Given the description of an element on the screen output the (x, y) to click on. 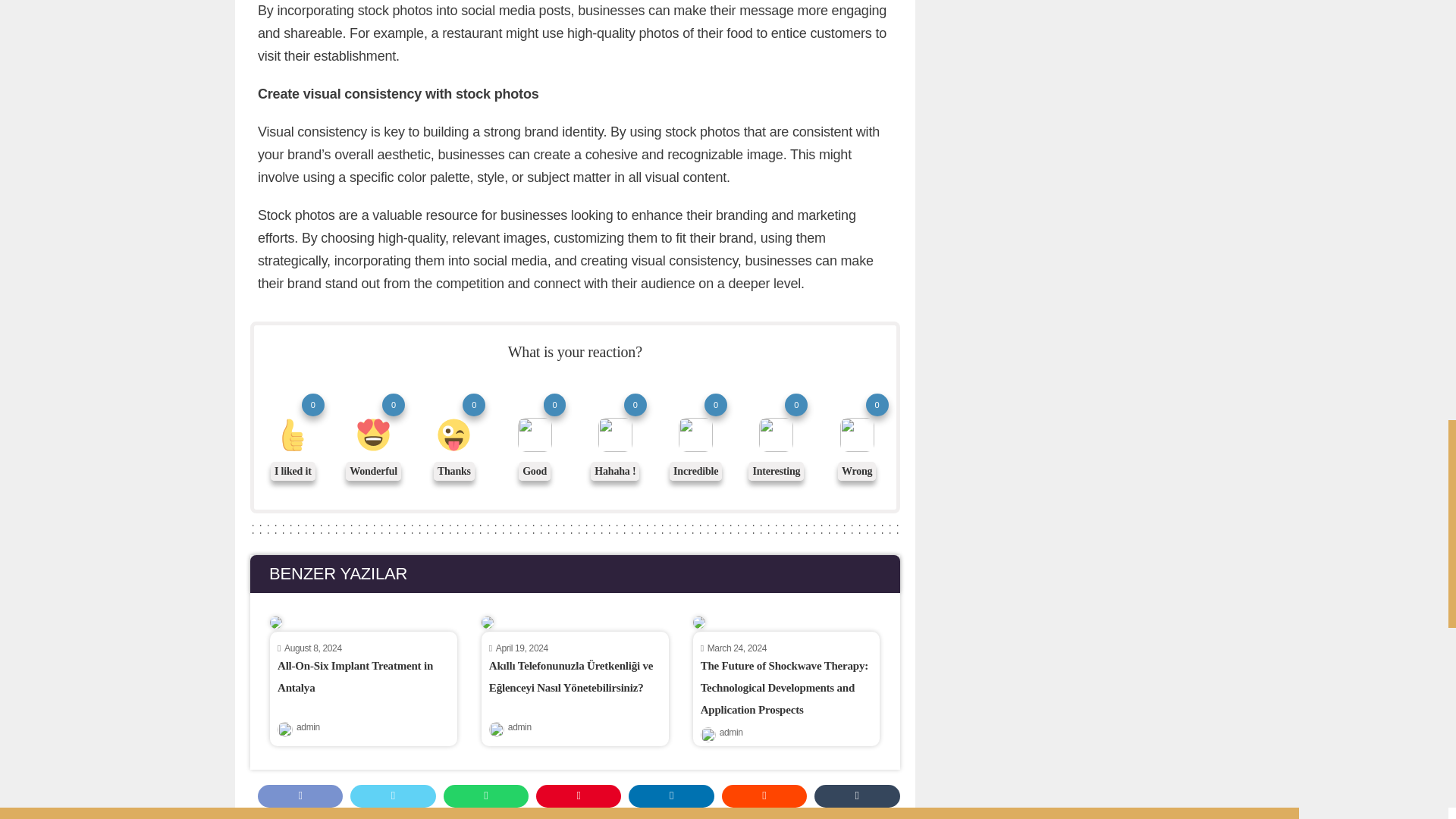
All-On-Six Implant Treatment in Antalya (355, 676)
admin (308, 731)
BENZER YAZILAR (574, 573)
